Given the description of an element on the screen output the (x, y) to click on. 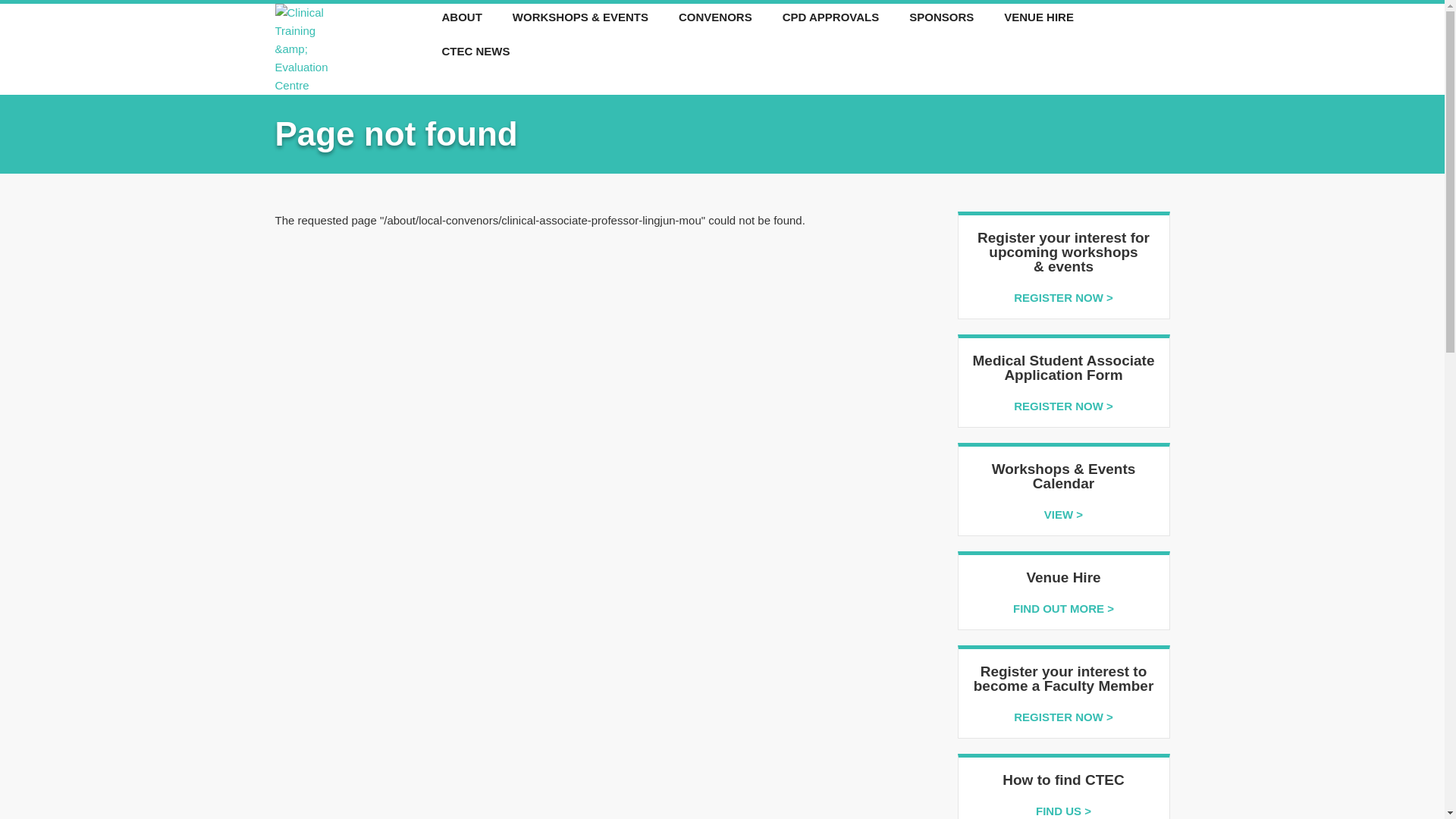
CONVENORS (715, 17)
CPD APPROVALS (831, 17)
VENUE HIRE (1039, 17)
SPONSORS (941, 17)
Skip to main content (685, 1)
ABOUT (461, 17)
